Given the description of an element on the screen output the (x, y) to click on. 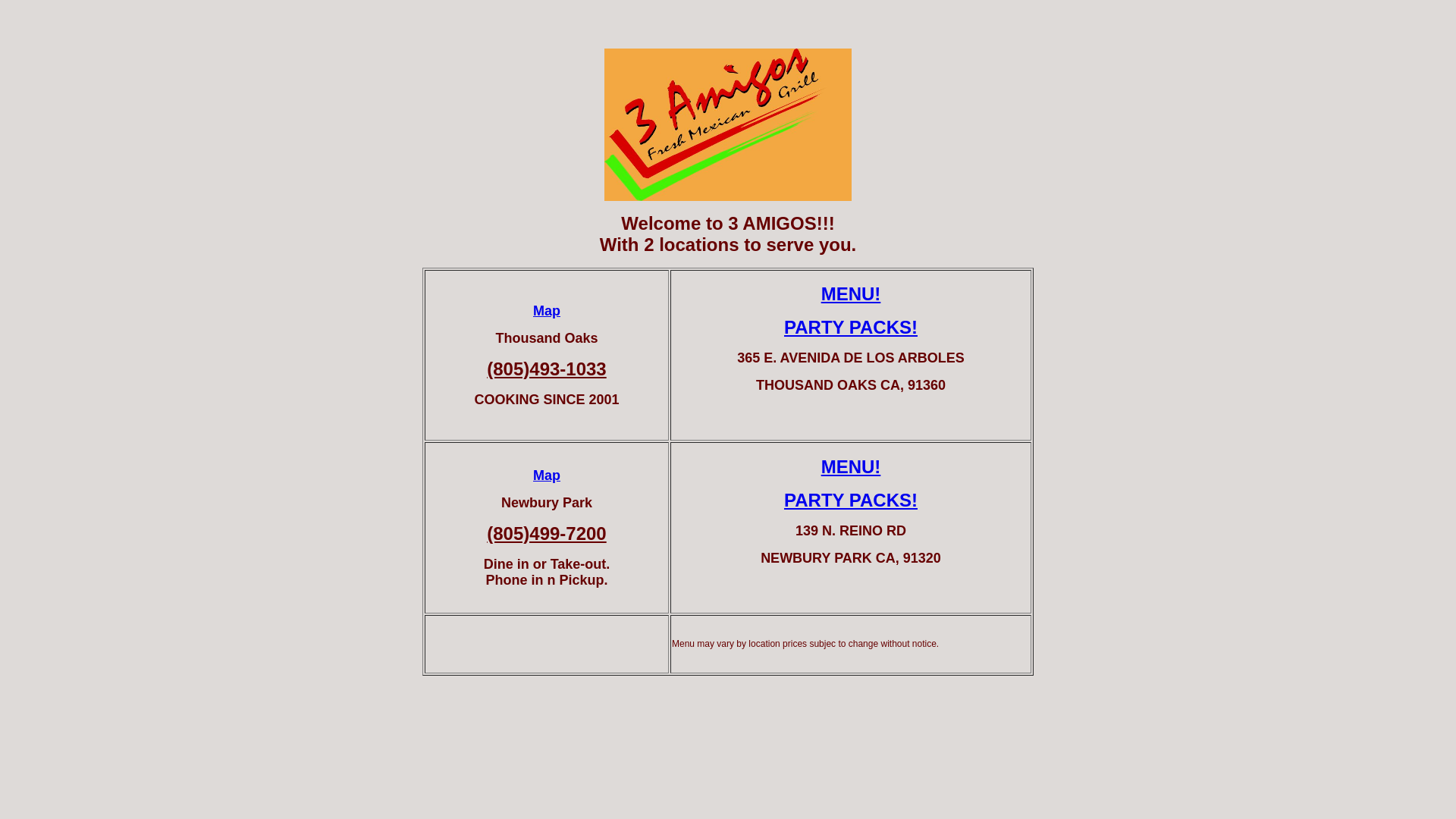
MENU! Element type: text (851, 466)
Map Element type: text (546, 475)
Map Element type: text (546, 310)
PARTY PACKS! Element type: text (850, 499)
MENU! Element type: text (851, 293)
PARTY PACKS! Element type: text (850, 326)
